Given the description of an element on the screen output the (x, y) to click on. 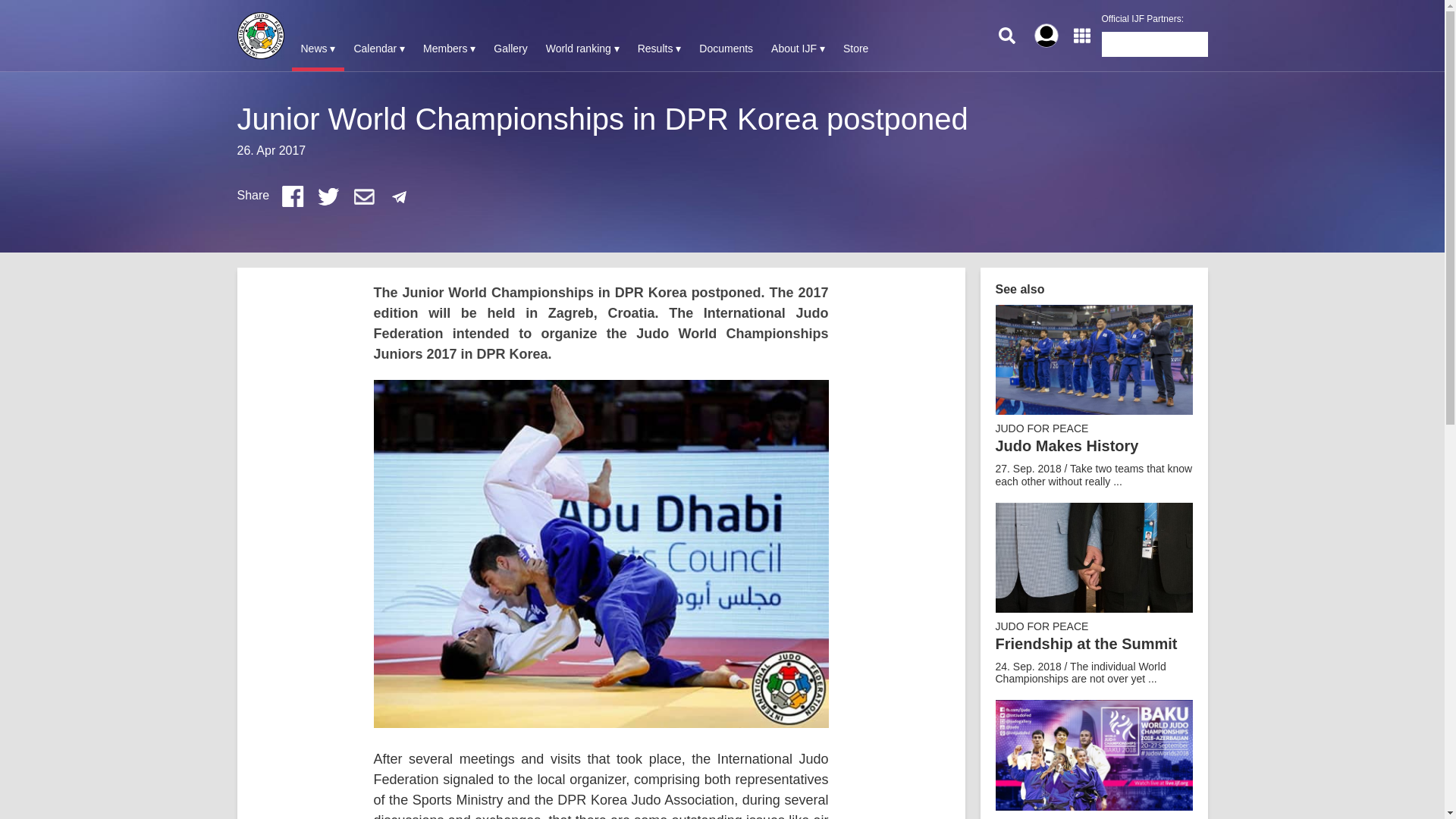
Gallery (509, 49)
Documents (725, 49)
Store (855, 49)
